Given the description of an element on the screen output the (x, y) to click on. 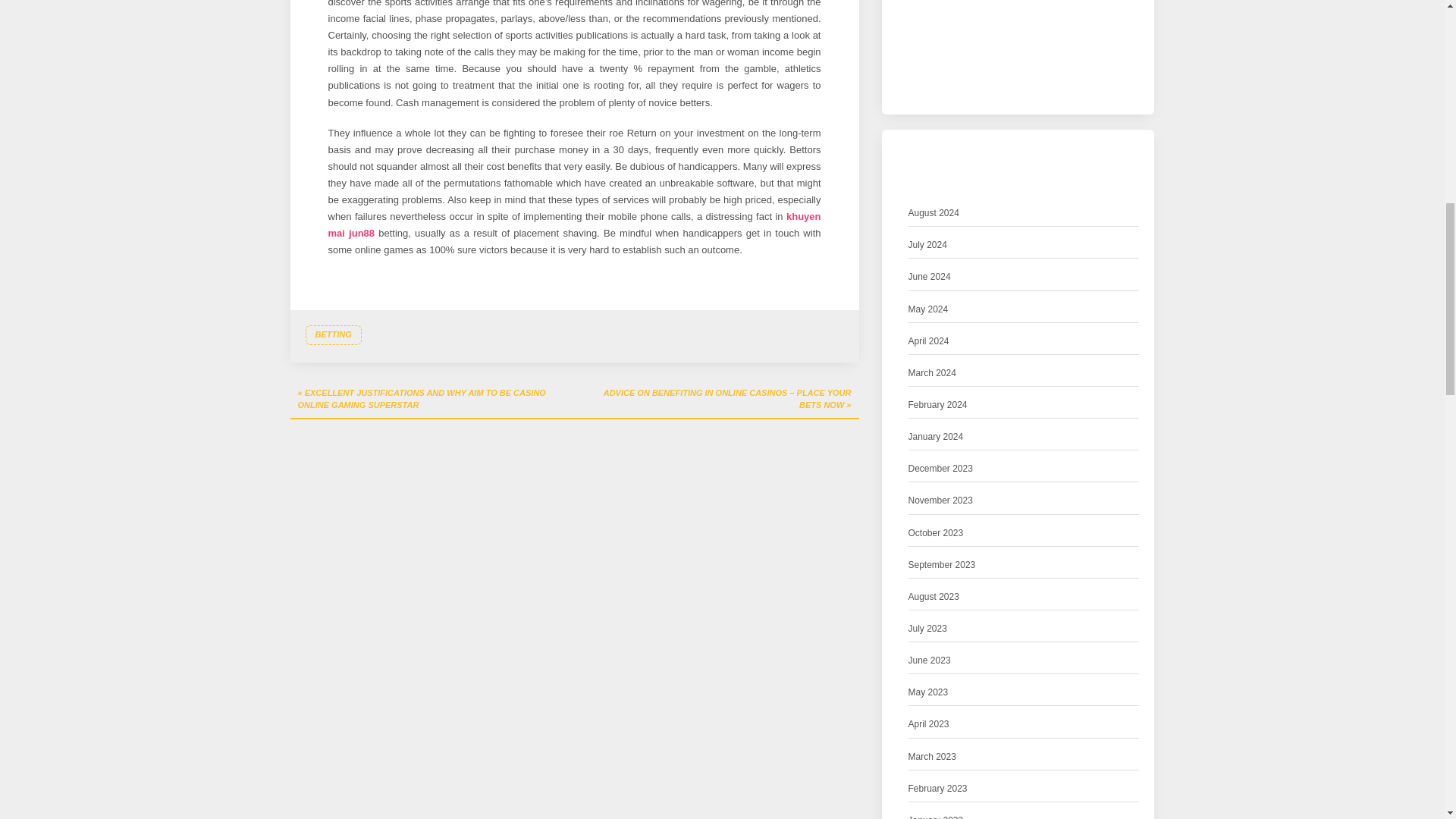
May 2023 (928, 692)
May 2024 (928, 309)
June 2024 (929, 277)
October 2023 (935, 533)
January 2024 (935, 437)
April 2023 (928, 724)
August 2023 (933, 596)
March 2023 (932, 756)
March 2024 (932, 373)
August 2024 (933, 213)
